Given the description of an element on the screen output the (x, y) to click on. 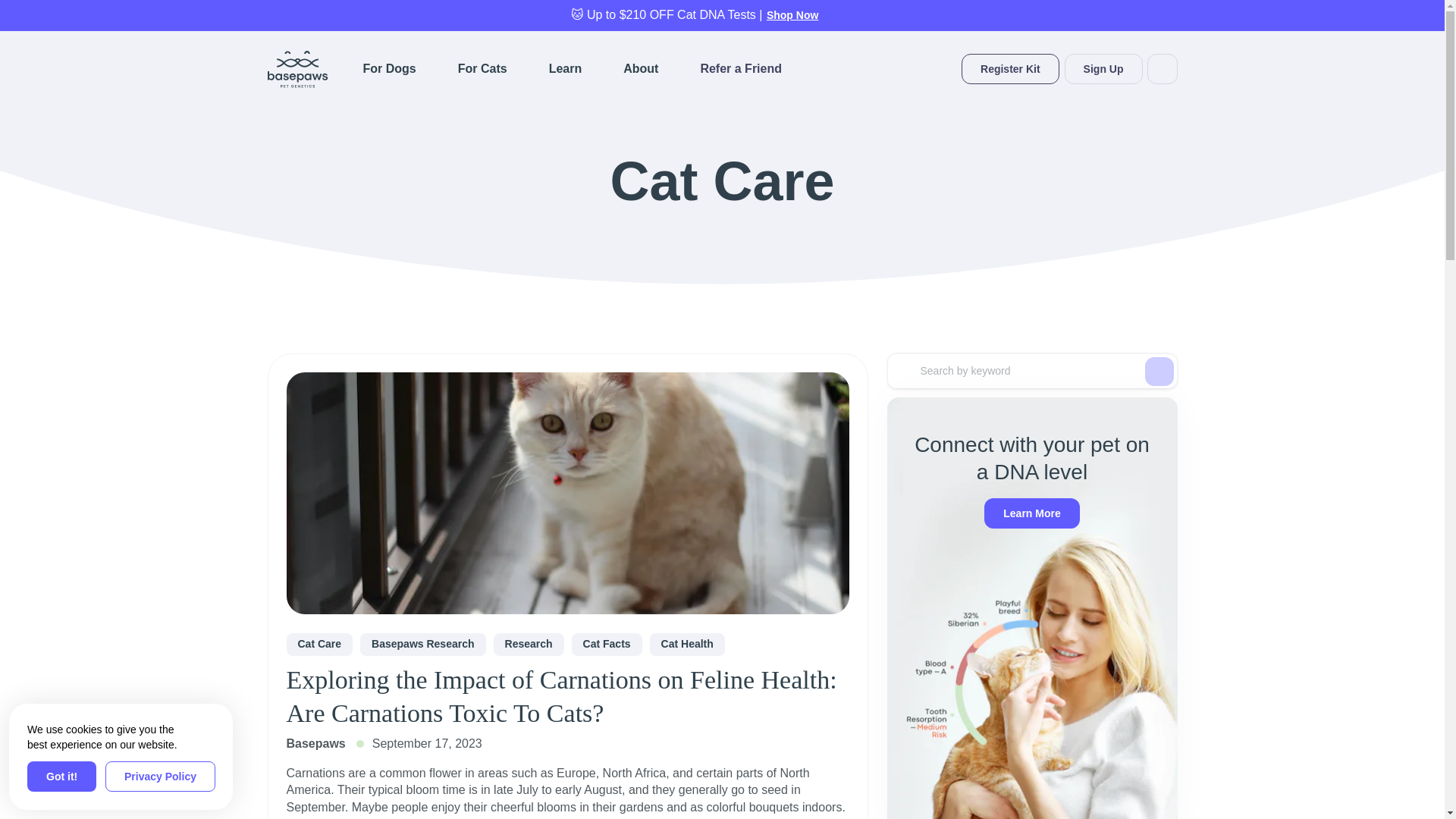
Refer a Friend (740, 68)
Register Kit (1009, 69)
Sign Up (1103, 69)
Privacy Policy (159, 776)
Got it! (61, 776)
Shop Now (791, 15)
